Given the description of an element on the screen output the (x, y) to click on. 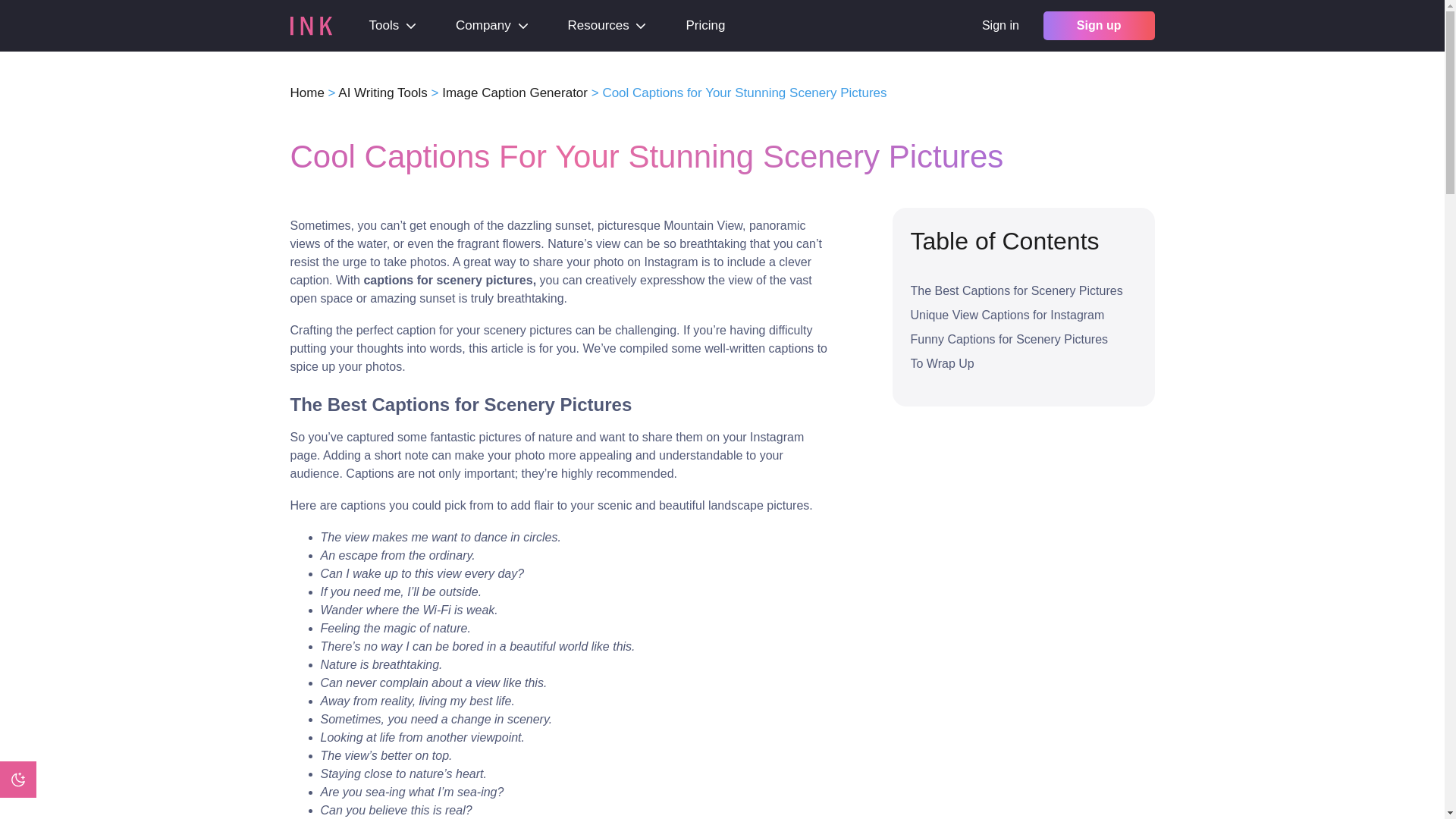
Sign in (1000, 25)
Pricing (704, 25)
Sign up (1098, 25)
